Given the description of an element on the screen output the (x, y) to click on. 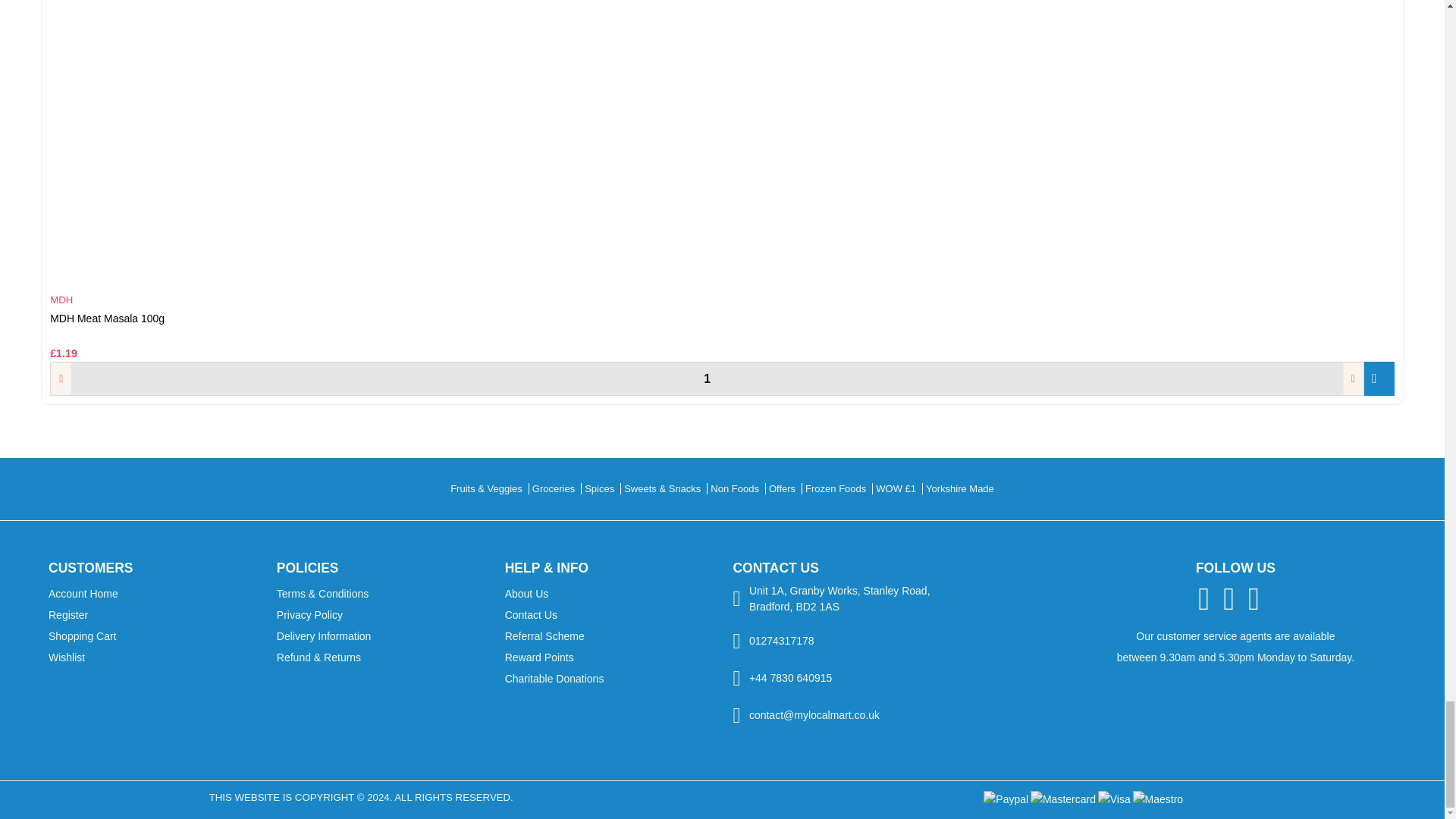
1 (706, 379)
